Given the description of an element on the screen output the (x, y) to click on. 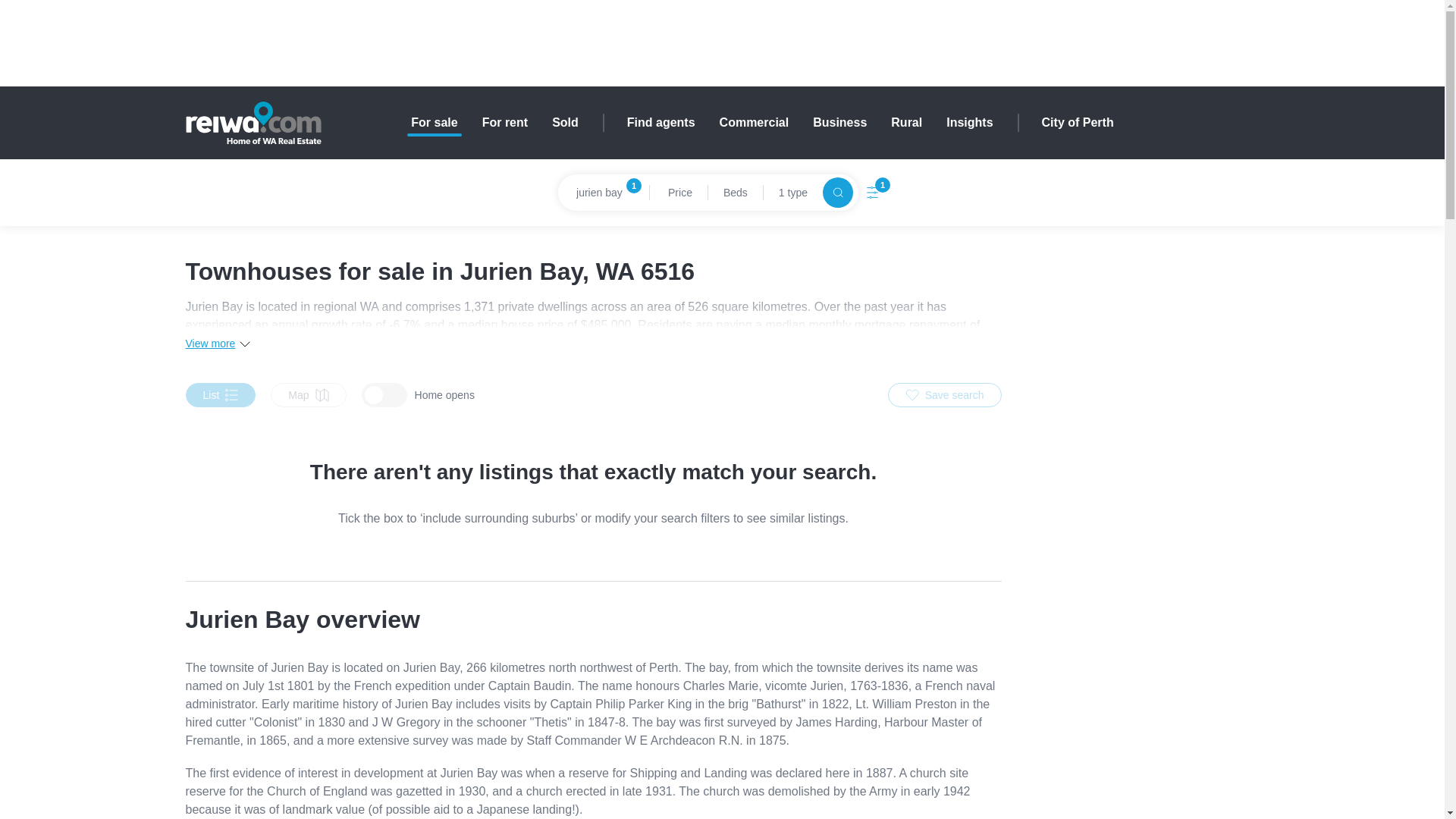
Price (678, 192)
Commercial (754, 122)
Beds (734, 192)
For rent (504, 122)
View more (217, 343)
City of Perth (1077, 122)
Search (837, 192)
Sold (564, 122)
1 type (792, 192)
Insights (969, 122)
